Given the description of an element on the screen output the (x, y) to click on. 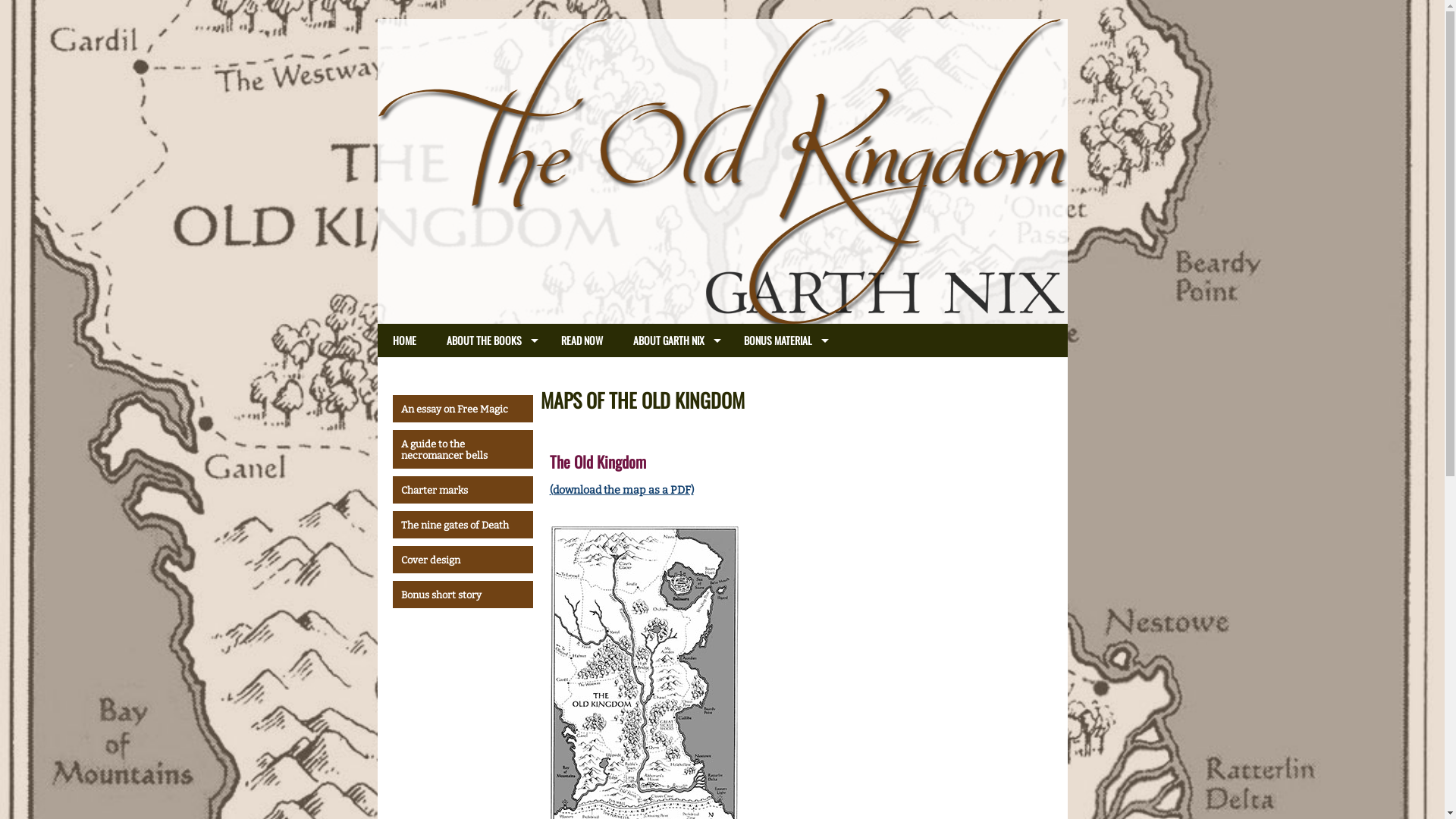
HOME Element type: text (404, 340)
The nine gates of Death Element type: text (462, 524)
A guide to the necromancer bells Element type: text (462, 448)
BONUS MATERIAL Element type: text (781, 340)
Bonus short story Element type: text (462, 594)
(download the map as a PDF) Element type: text (621, 489)
An essay on Free Magic Element type: text (462, 408)
Charter marks Element type: text (462, 489)
ABOUT THE BOOKS Element type: text (487, 340)
ABOUT GARTH NIX Element type: text (672, 340)
READ NOW Element type: text (582, 340)
Cover design Element type: text (462, 559)
